Given the description of an element on the screen output the (x, y) to click on. 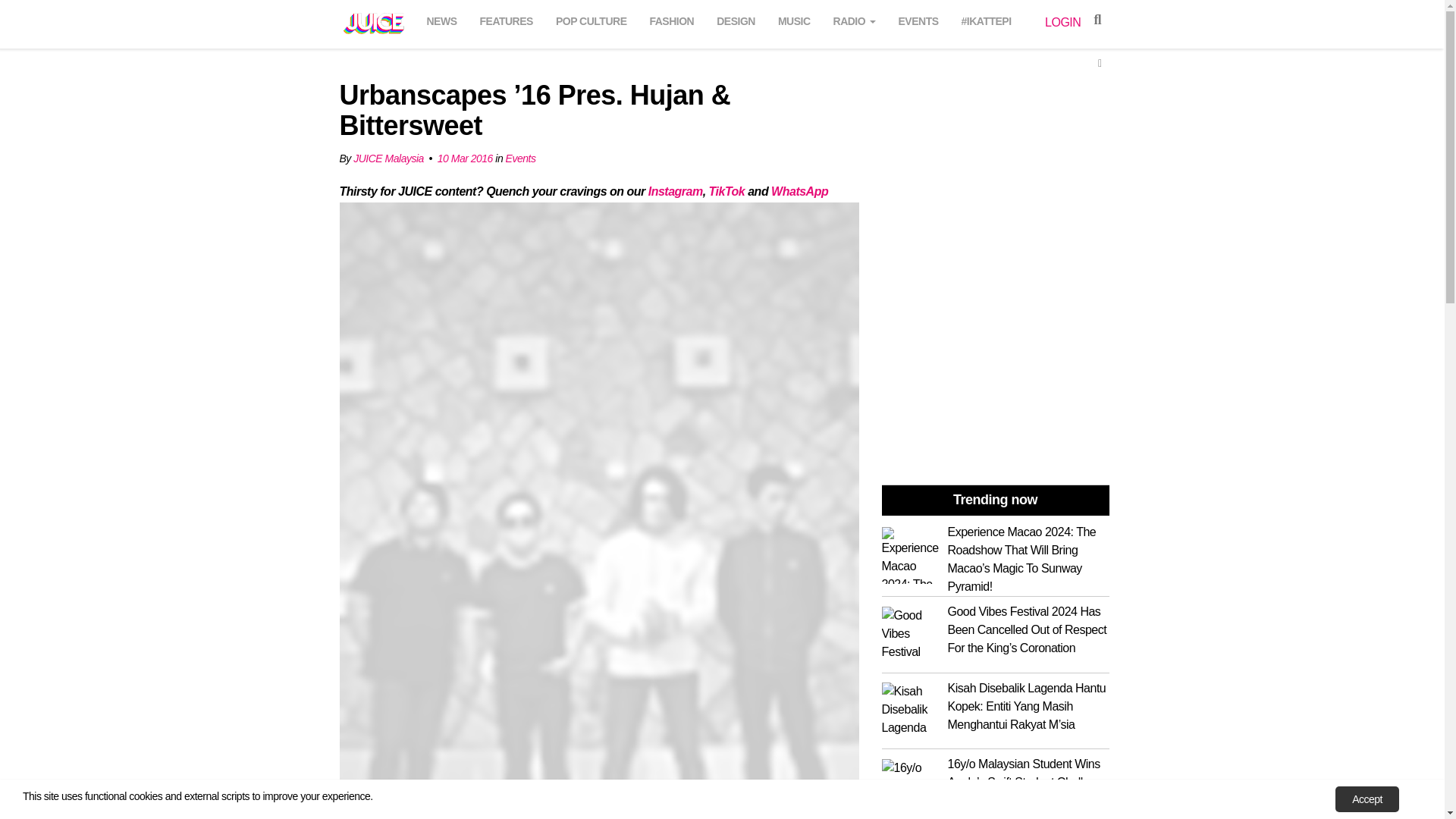
MUSIC (794, 19)
Fashion (671, 19)
Pop Culture (591, 19)
FASHION (671, 19)
Music (794, 19)
FEATURES (505, 19)
POP CULTURE (591, 19)
DESIGN (735, 19)
Events (918, 19)
Features (505, 19)
RADIO (854, 19)
Radio (854, 19)
Design (735, 19)
News (441, 19)
EVENTS (918, 19)
